Given the description of an element on the screen output the (x, y) to click on. 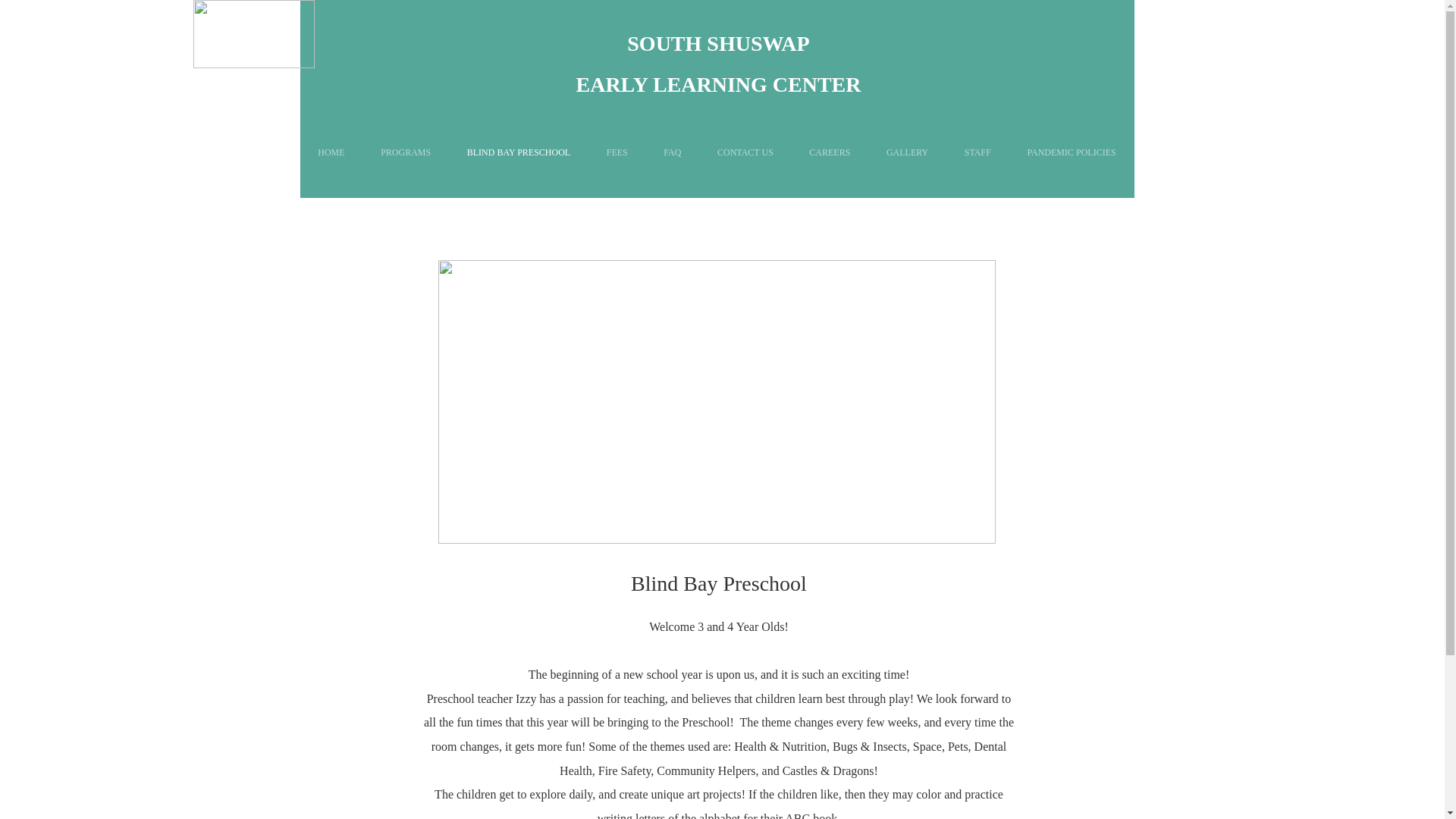
FEES (617, 152)
STAFF (977, 152)
PANDEMIC POLICIES (1071, 152)
FAQ (673, 152)
HOME (330, 152)
CONTACT US (744, 152)
GALLERY (906, 152)
PROGRAMS (405, 152)
BLIND BAY PRESCHOOL (518, 152)
CAREERS (830, 152)
